Given the description of an element on the screen output the (x, y) to click on. 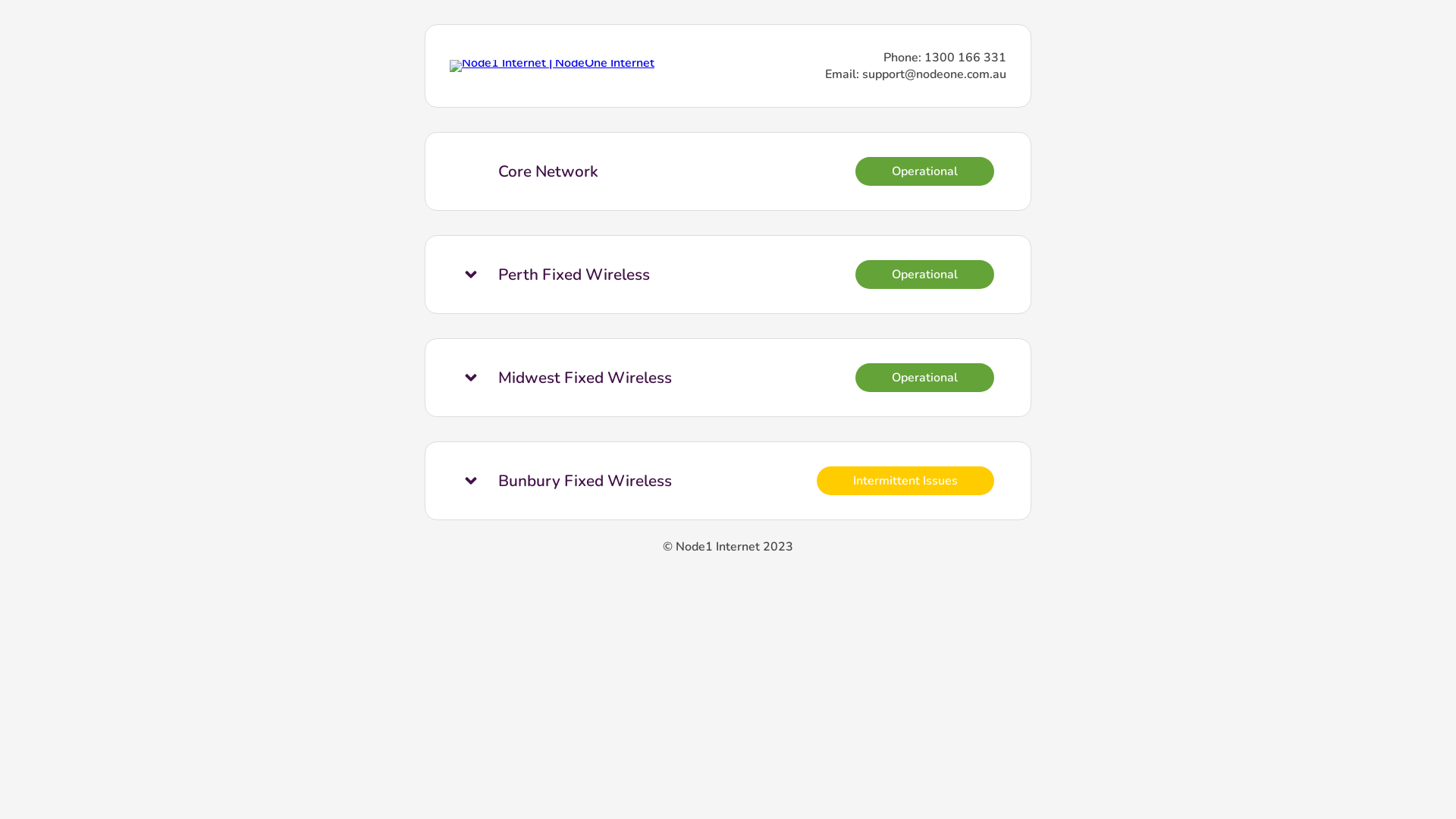
Visit NodeOne Internet Website Element type: hover (551, 62)
